Given the description of an element on the screen output the (x, y) to click on. 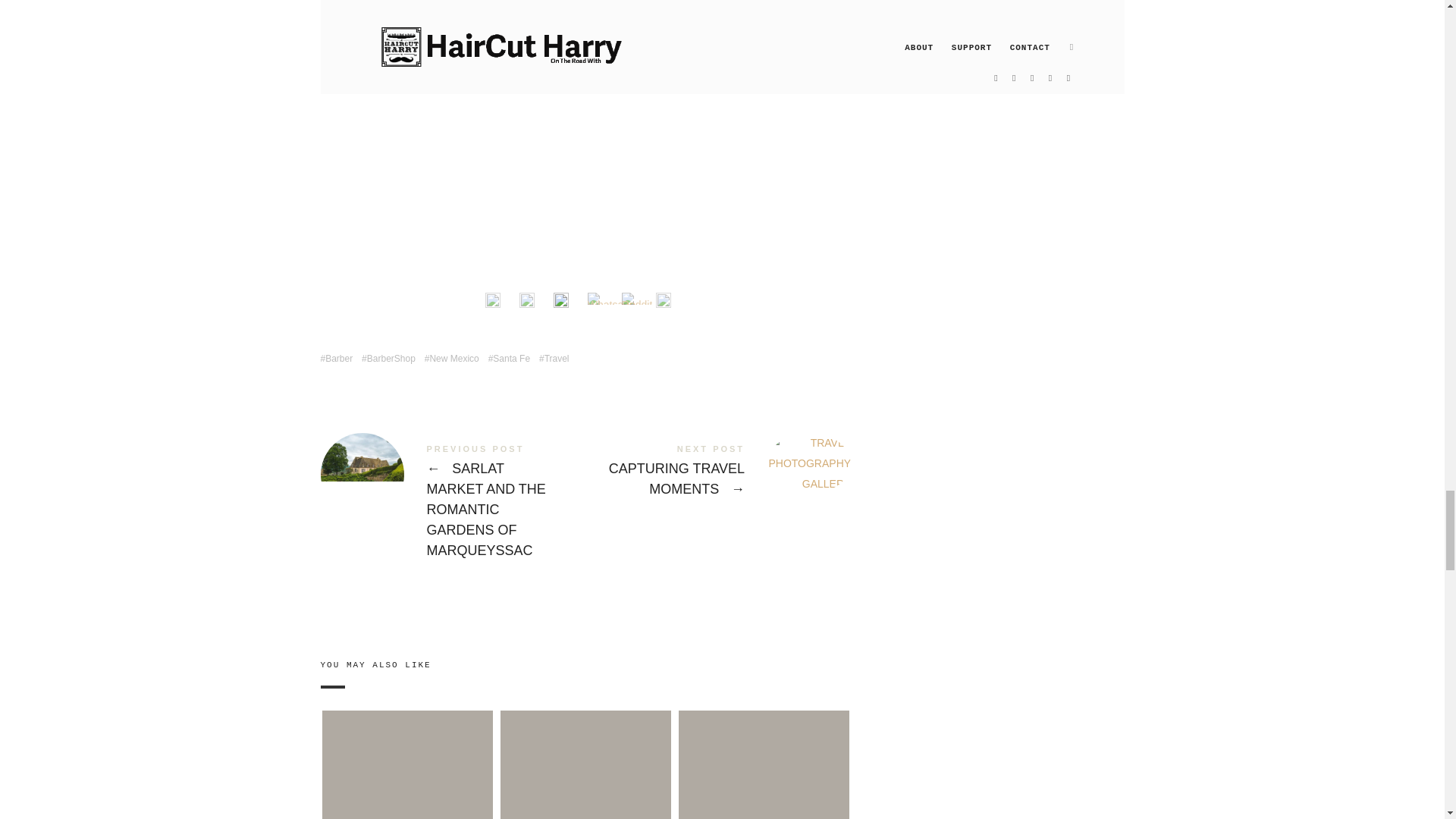
New Mexico (452, 358)
Whatsapp (611, 298)
SARLAT MARKET AND THE ROMANTIC GARDENS OF MARQUEYSSAC (452, 503)
Travel (553, 358)
CAPTURING TRAVEL MOMENTS (717, 472)
Santa Fe (508, 358)
BarberShop (387, 358)
Reddit (636, 298)
Barber (336, 358)
